Given the description of an element on the screen output the (x, y) to click on. 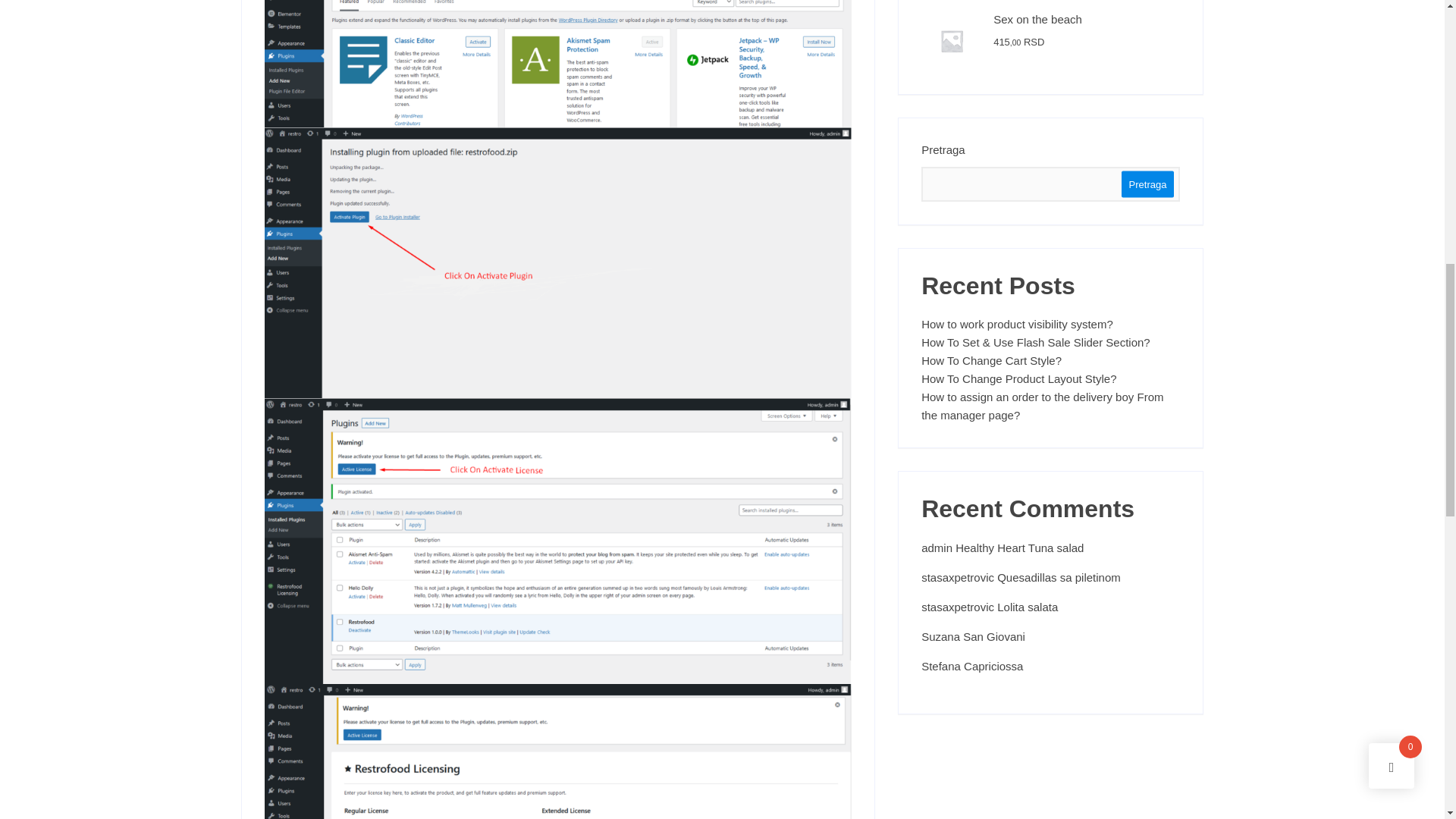
Healthy Heart Tuna salad (1019, 547)
San Giovani (993, 635)
Sex on the beach (1050, 19)
admin (936, 547)
Quesadillas sa piletinom (1059, 576)
Pretraga (1147, 183)
How To Change Cart Style? (1050, 361)
stasaxpetrovic (957, 606)
How to work product visibility system? (1050, 324)
Lolita salata (1027, 606)
How To Change Product Layout Style? (1050, 379)
stasaxpetrovic (957, 576)
